Given the description of an element on the screen output the (x, y) to click on. 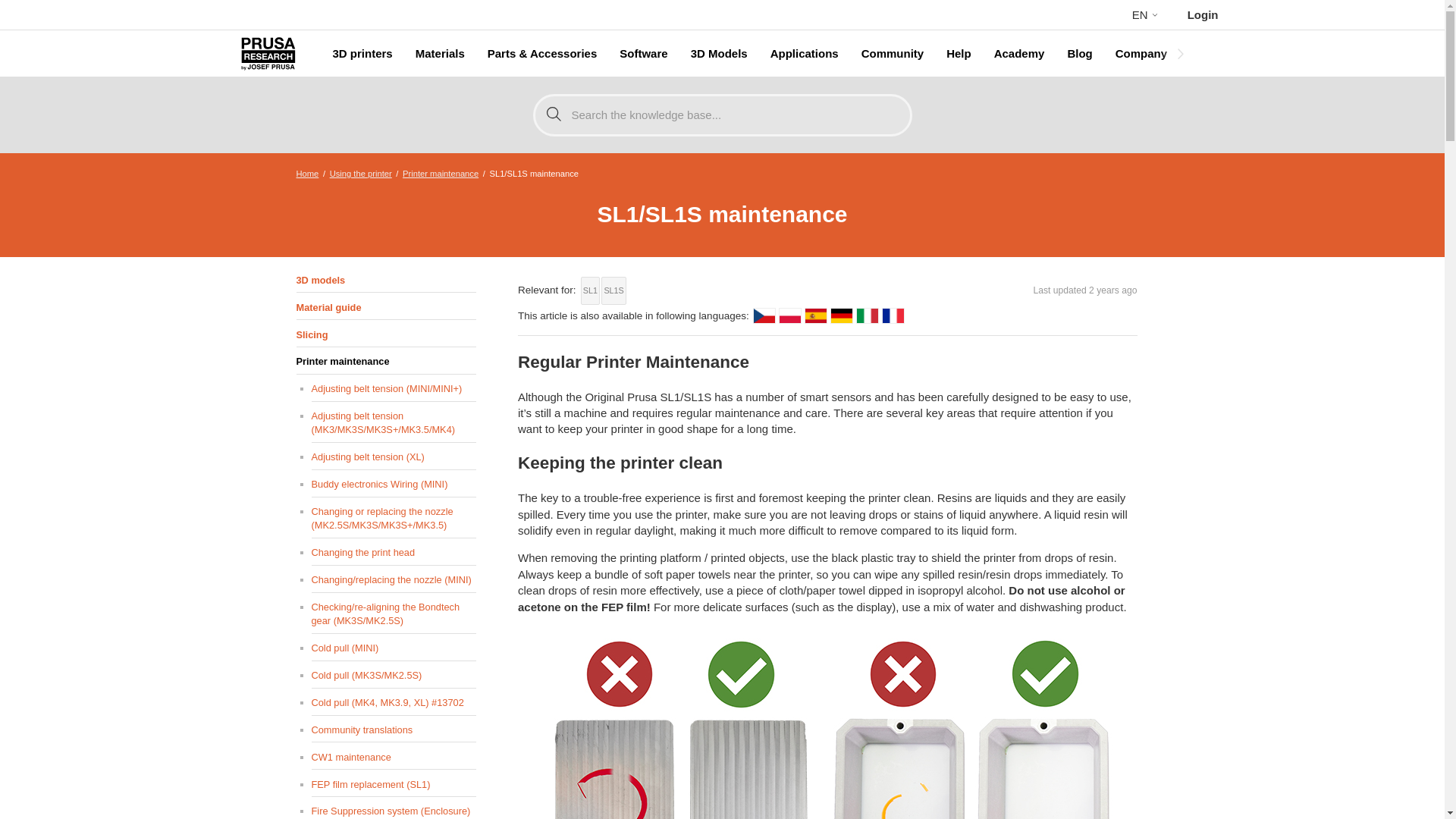
CS (764, 315)
Printer maintenance (441, 173)
FR (893, 315)
Applications (804, 53)
IT (867, 315)
Blog (1079, 53)
Materials (440, 53)
Changing the print head (393, 552)
Company (1140, 53)
3D models (385, 280)
